Given the description of an element on the screen output the (x, y) to click on. 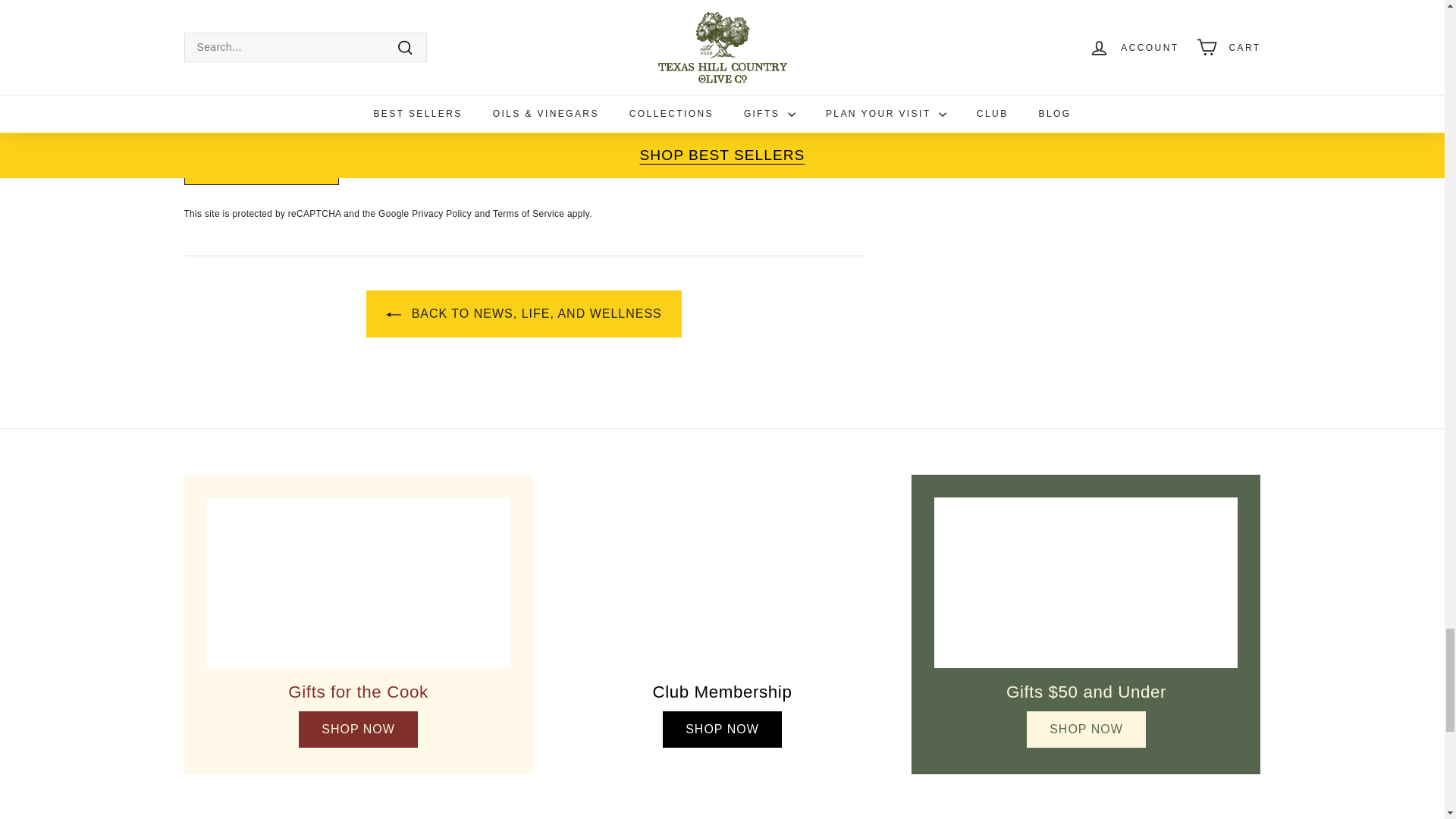
ICON-LEFT-ARROW (393, 314)
